Given the description of an element on the screen output the (x, y) to click on. 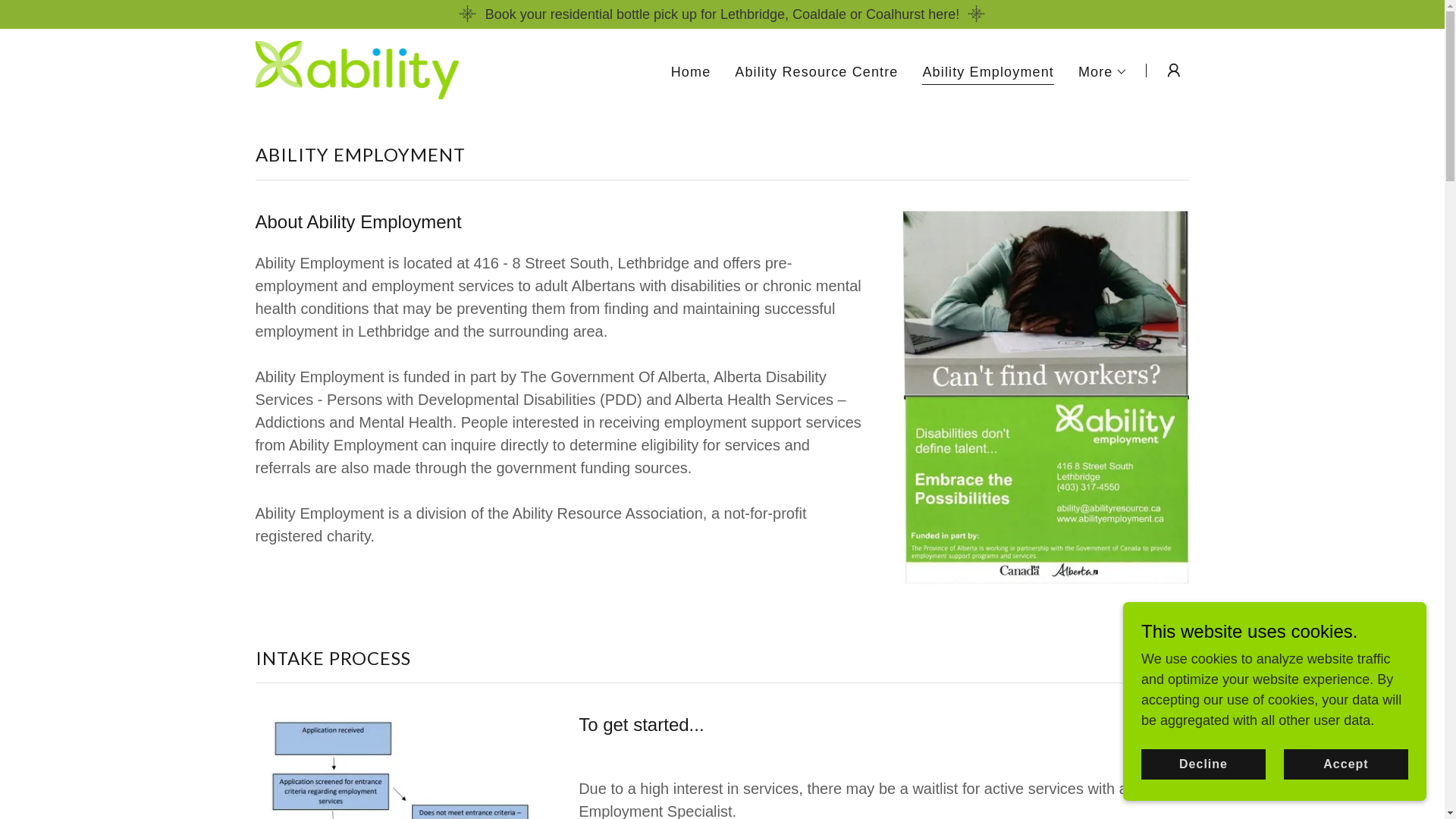
Ability Employment Element type: text (987, 73)
Decline Element type: text (1203, 764)
Ability Resource Centre Element type: text (816, 71)
Accept Element type: text (1345, 764)
Home Element type: text (690, 71)
More Element type: text (1103, 71)
